Given the description of an element on the screen output the (x, y) to click on. 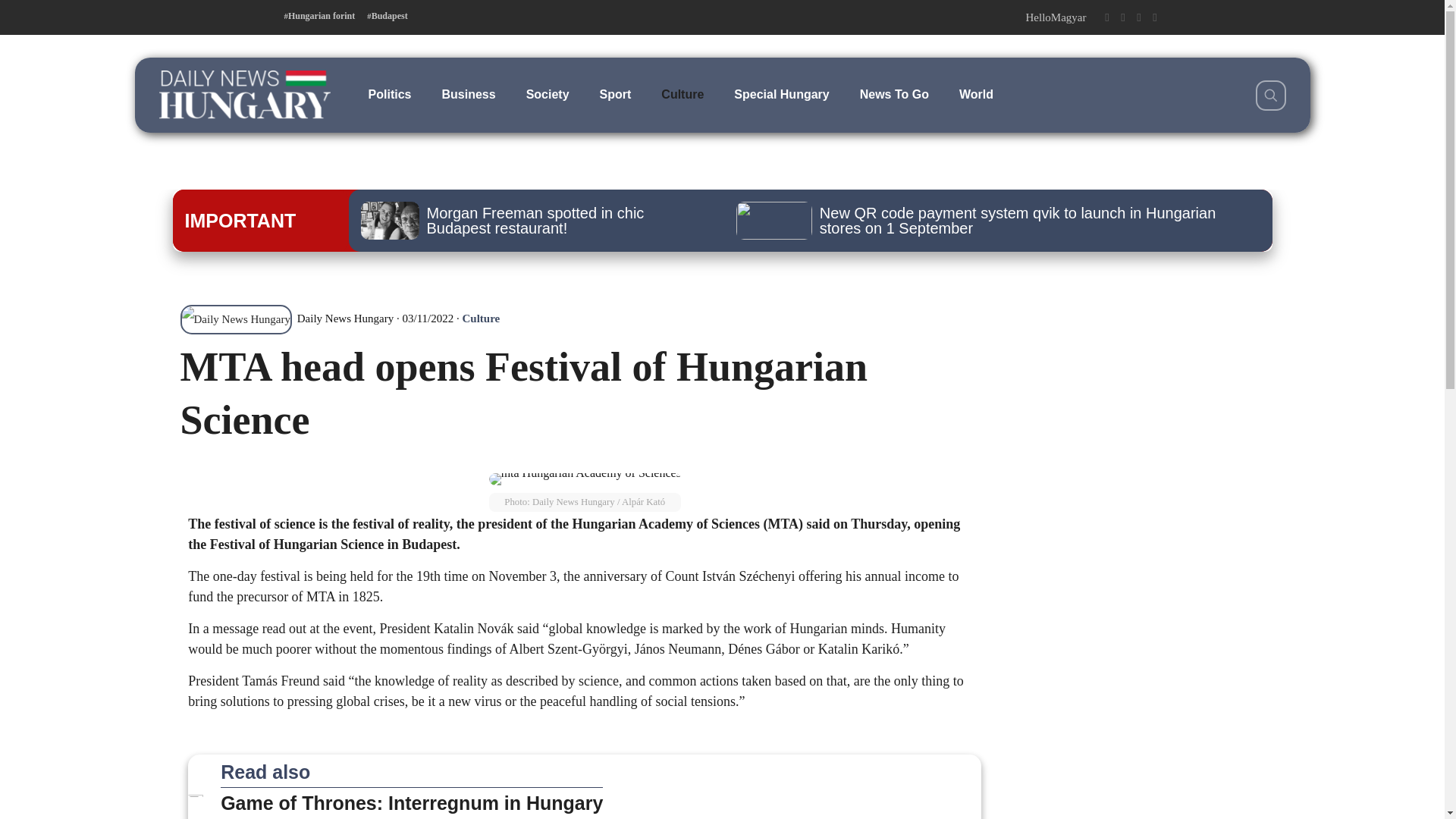
Daily News Hungary (244, 94)
HelloMagyar (1055, 17)
Daily News Hungary (287, 318)
Society (548, 94)
Culture (682, 94)
Special Hungary (781, 94)
Culture (481, 318)
Instagram (1138, 17)
Hungarian forint (319, 15)
Facebook (1106, 17)
